Given the description of an element on the screen output the (x, y) to click on. 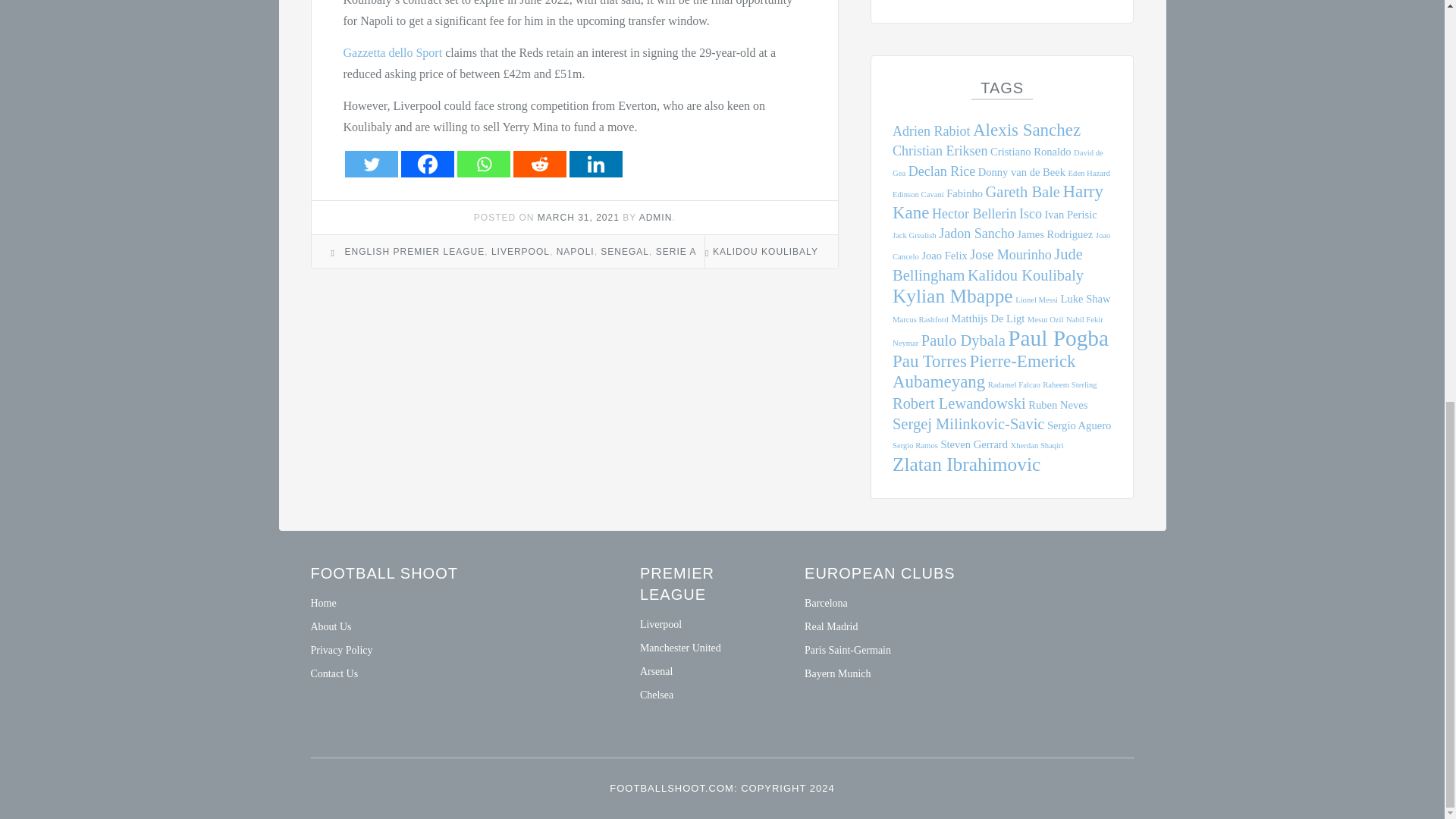
Facebook (426, 163)
NAPOLI (575, 251)
KALIDOU KOULIBALY (765, 251)
SERIE A (675, 251)
Twitter (370, 163)
ENGLISH PREMIER LEAGUE (414, 251)
Alexis Sanchez (1026, 129)
Adrien Rabiot (931, 130)
ADMIN (655, 217)
MARCH 31, 2021 (578, 217)
Linkedin (595, 163)
Whatsapp (483, 163)
SENEGAL (624, 251)
LIVERPOOL (521, 251)
Reddit (539, 163)
